Given the description of an element on the screen output the (x, y) to click on. 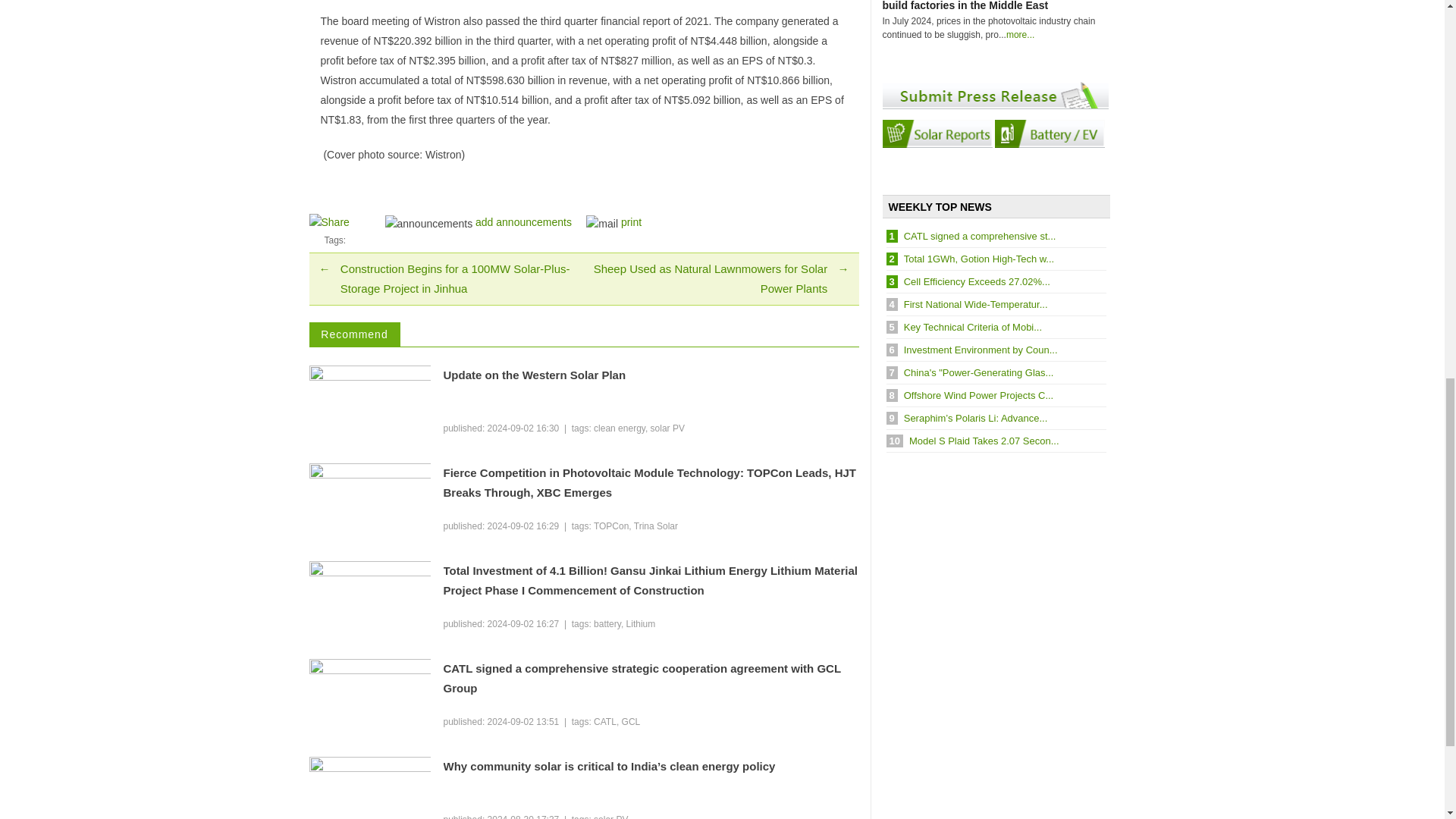
Update on the Western Solar Plan (650, 374)
